Given the description of an element on the screen output the (x, y) to click on. 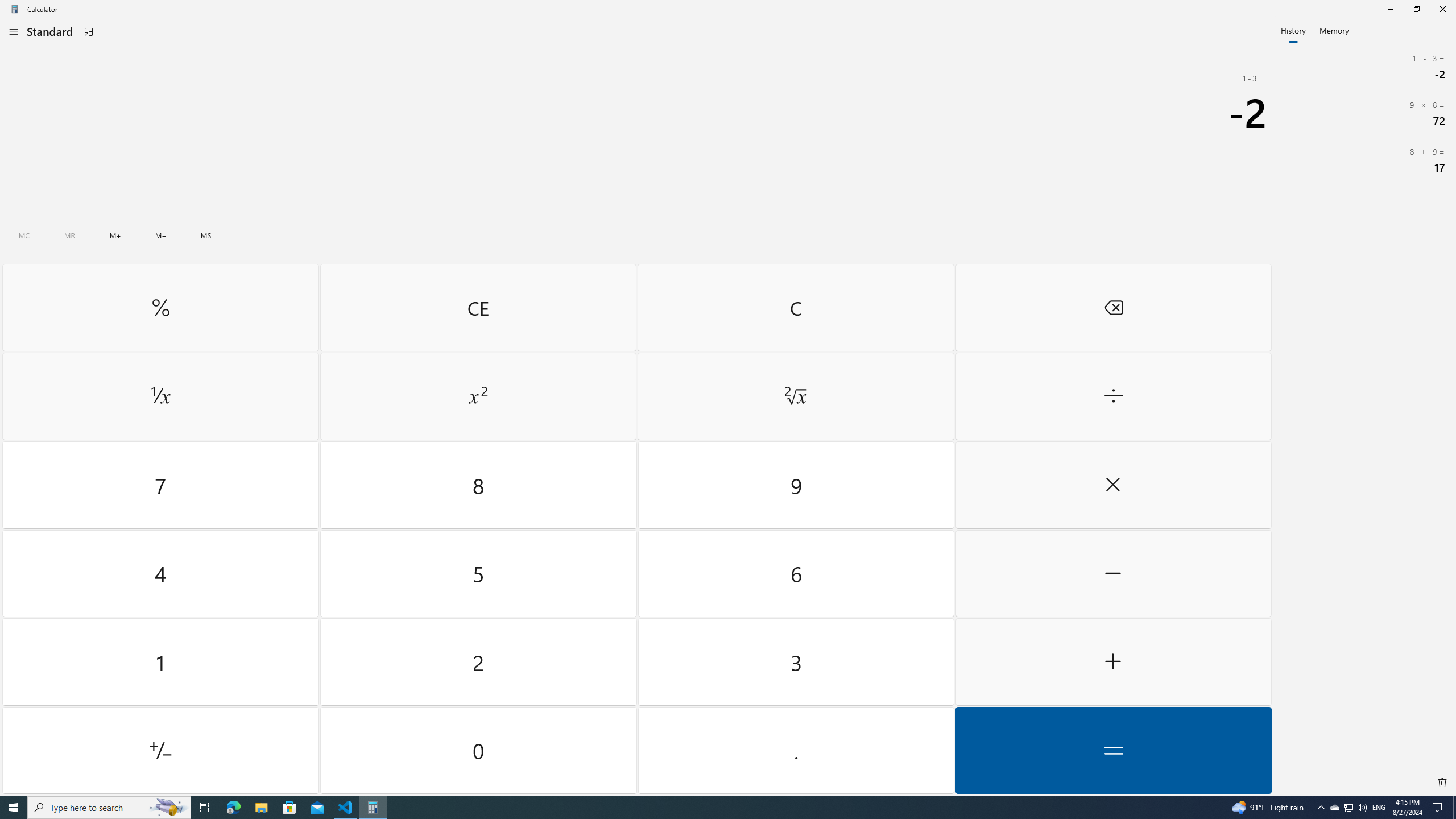
Reciprocal (160, 396)
